Given the description of an element on the screen output the (x, y) to click on. 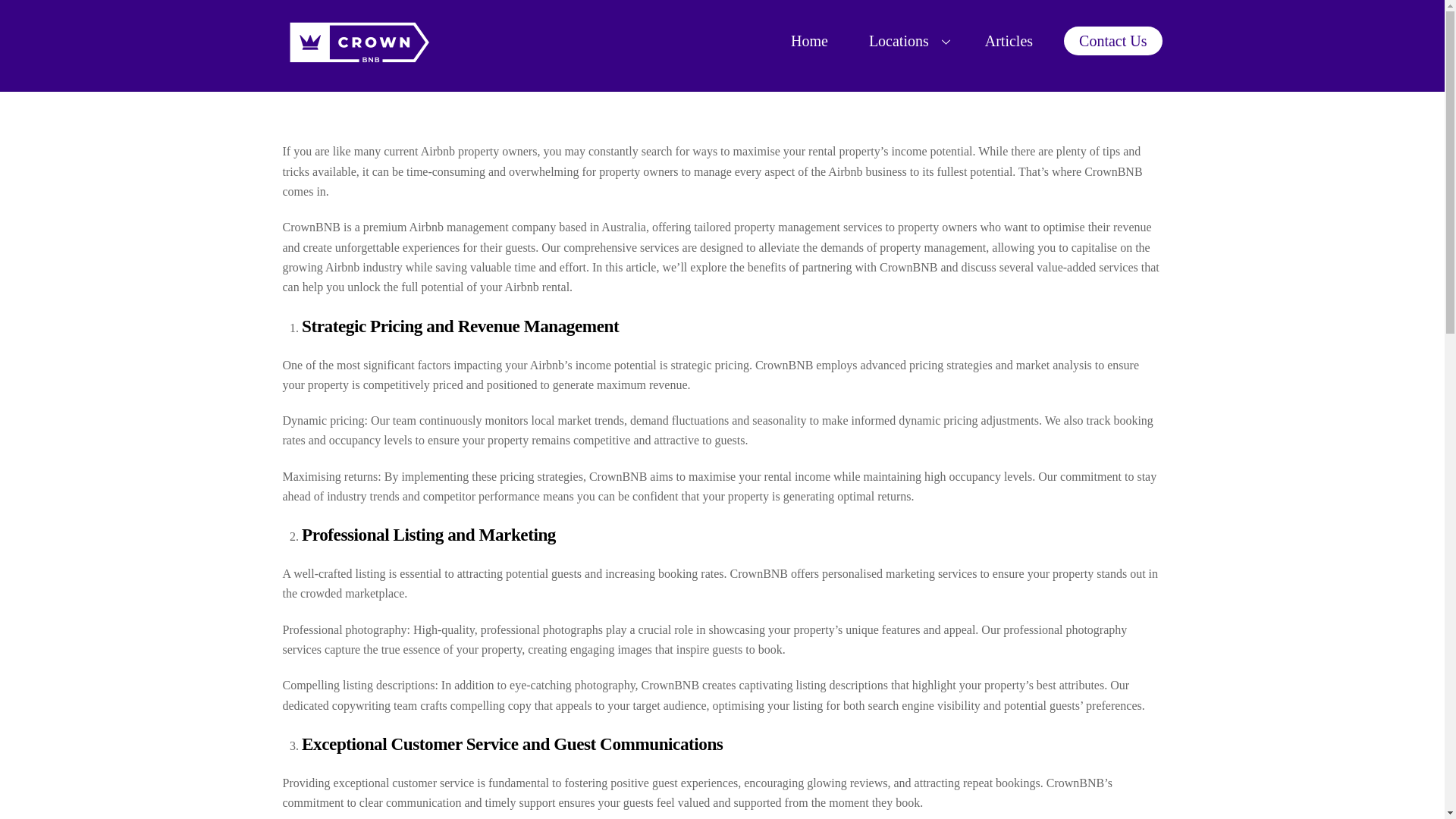
Home (809, 40)
Locations (721, 40)
Articles (906, 40)
Best Airbnb Management Company Australia - CrownBNB (1008, 40)
Contact Us (357, 61)
